Given the description of an element on the screen output the (x, y) to click on. 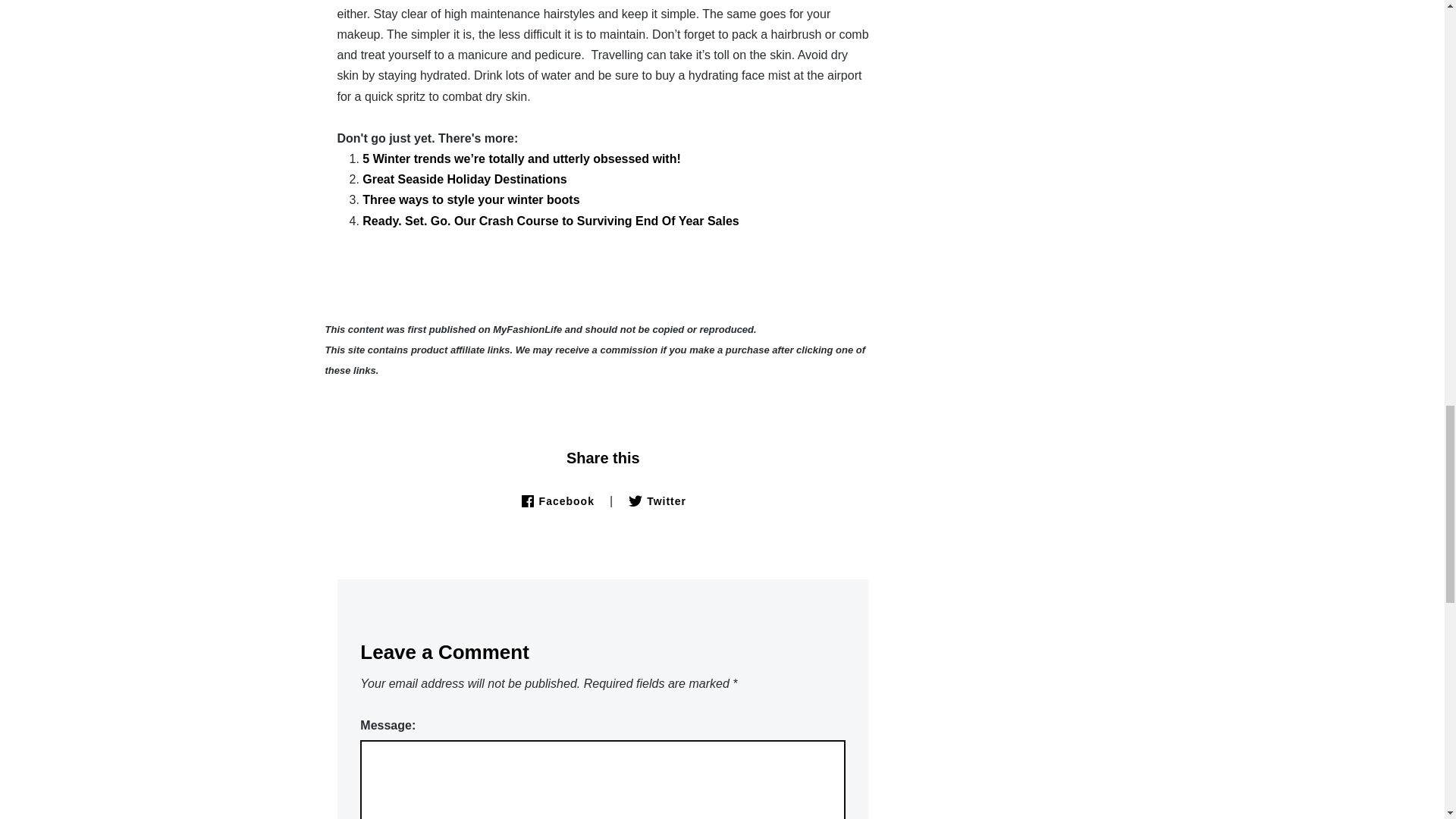
Share this on Facebook (556, 500)
Great Seaside Holiday Destinations (464, 178)
Tweet this on Twitter (656, 500)
Three ways to style your winter boots (470, 199)
